Given the description of an element on the screen output the (x, y) to click on. 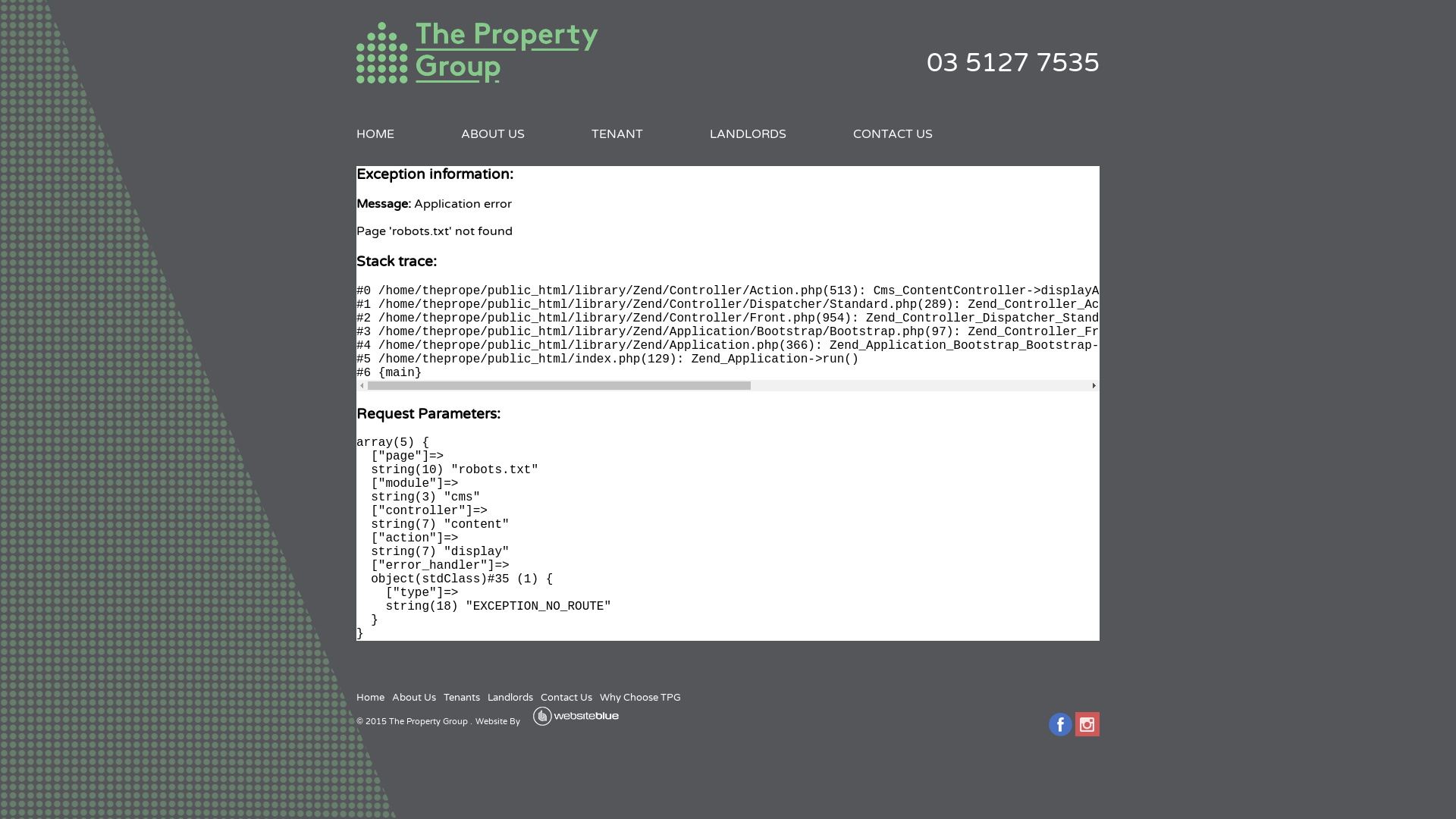
Contact Us Element type: text (566, 697)
HOME Element type: text (375, 133)
TENANT Element type: text (617, 133)
CONTACT US Element type: text (892, 133)
Tenants Element type: text (461, 697)
Why Choose TPG Element type: text (639, 697)
About Us Element type: text (414, 697)
LANDLORDS Element type: text (747, 133)
Home Element type: text (370, 697)
ABOUT US Element type: text (492, 133)
Landlords Element type: text (510, 697)
